Given the description of an element on the screen output the (x, y) to click on. 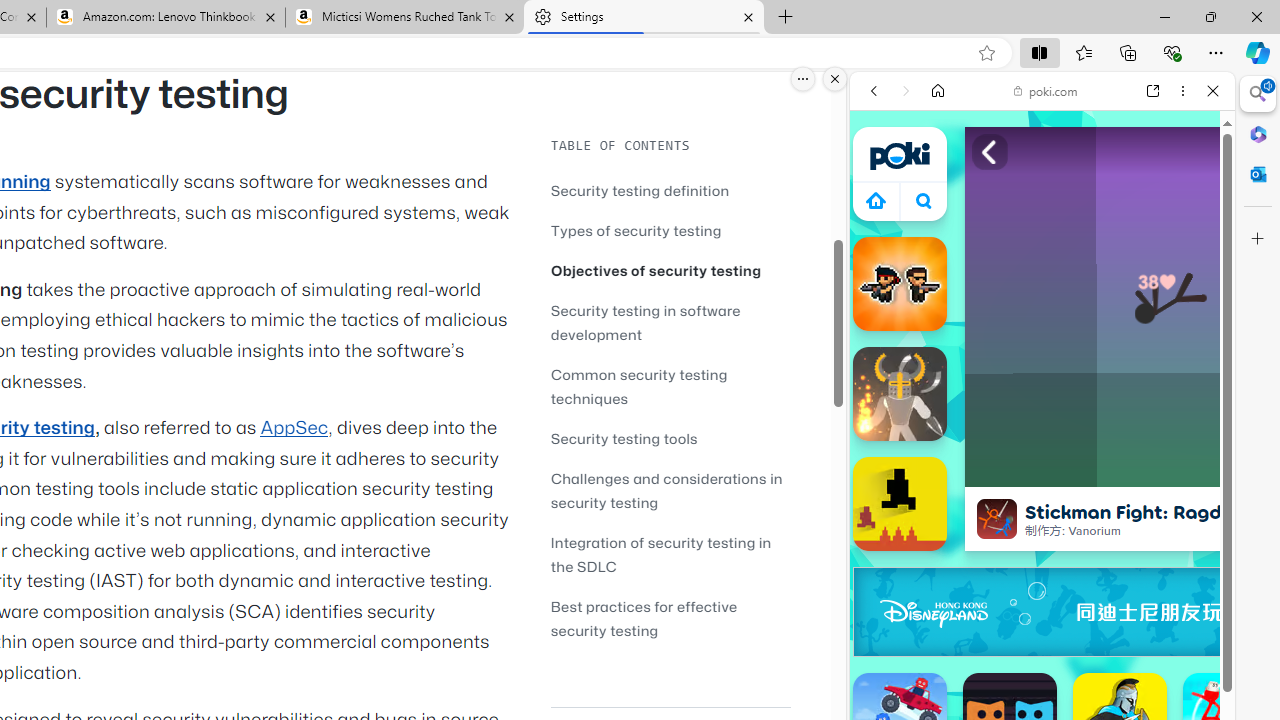
Common security testing techniques (639, 385)
Search Filter, Search Tools (1093, 228)
More options. (803, 79)
Security testing in software development (645, 321)
Microsoft 365 (1258, 133)
Security testing tools (623, 438)
Best practices for effective security testing (644, 618)
Level Devil (899, 503)
Stickman Fight: Ragdoll (996, 518)
Search (1258, 94)
poki.com (1046, 90)
